Given the description of an element on the screen output the (x, y) to click on. 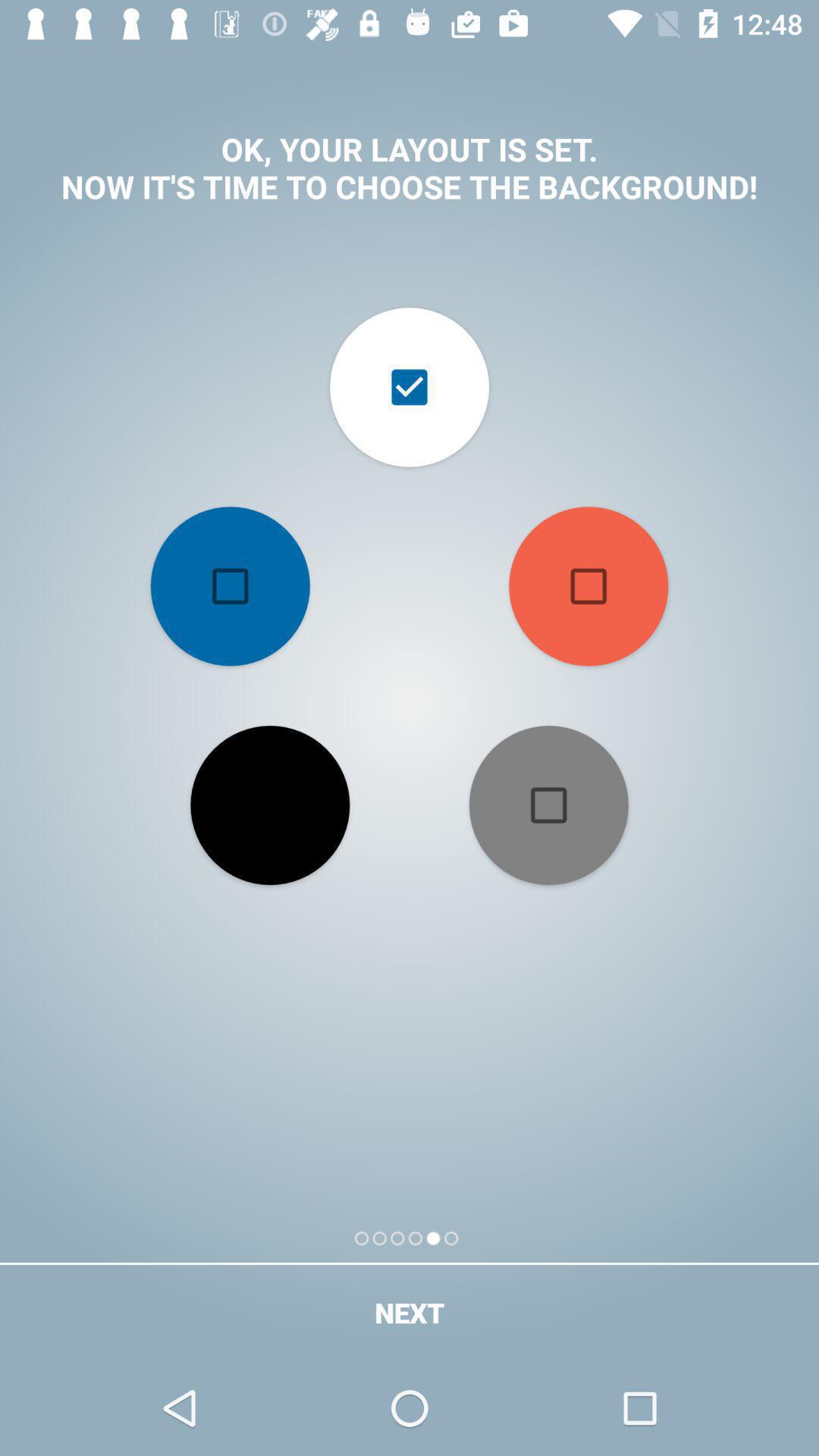
jump to next (409, 1312)
